Given the description of an element on the screen output the (x, y) to click on. 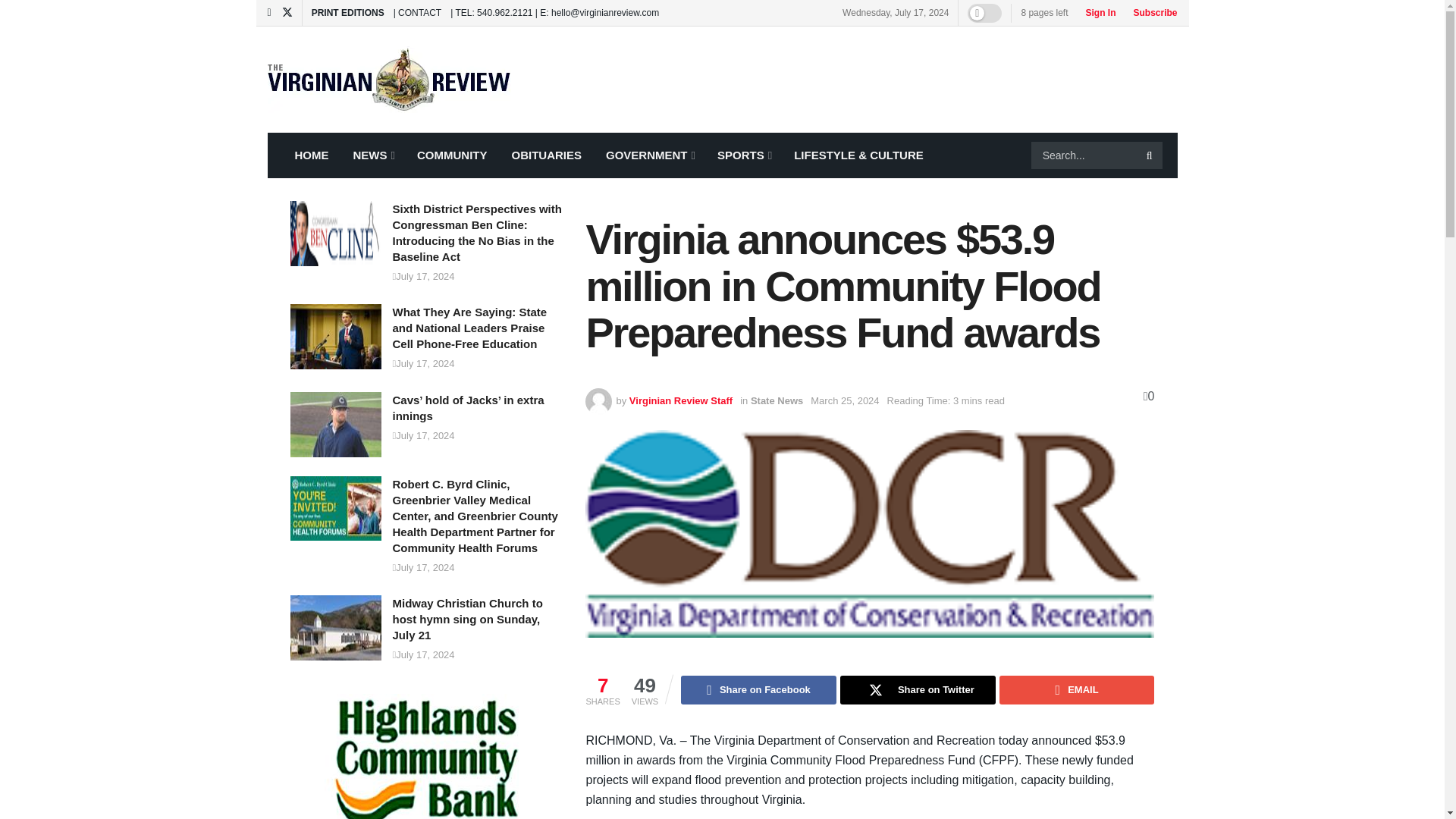
NEWS (372, 155)
Subscribe (1150, 12)
Sign In (1096, 12)
HOME (311, 155)
PRINT EDITIONS (347, 12)
